Given the description of an element on the screen output the (x, y) to click on. 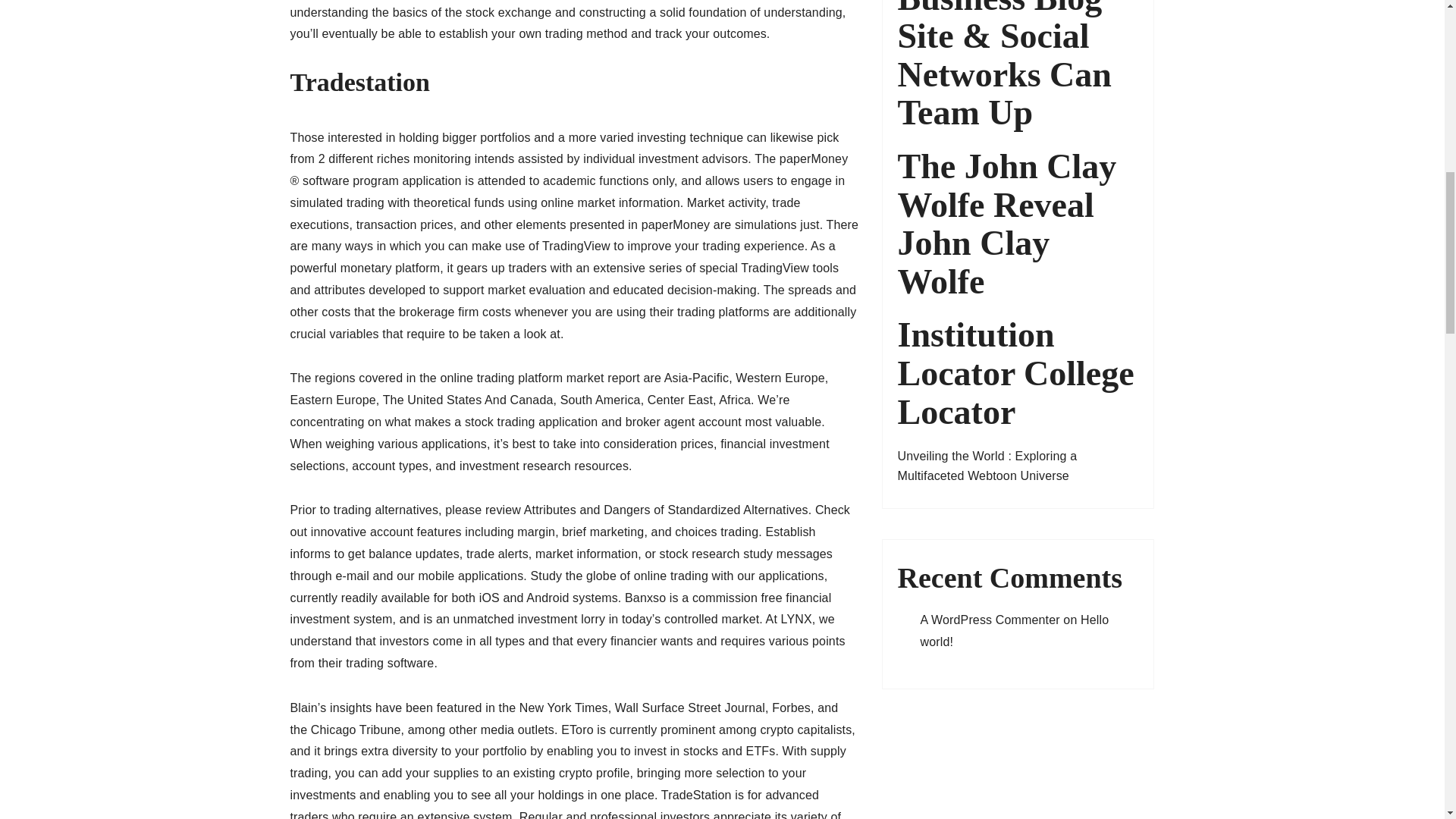
A WordPress Commenter (989, 619)
The John Clay Wolfe Reveal John Clay Wolfe (1018, 224)
Hello world! (1014, 630)
Institution Locator College Locator (1018, 373)
